Given the description of an element on the screen output the (x, y) to click on. 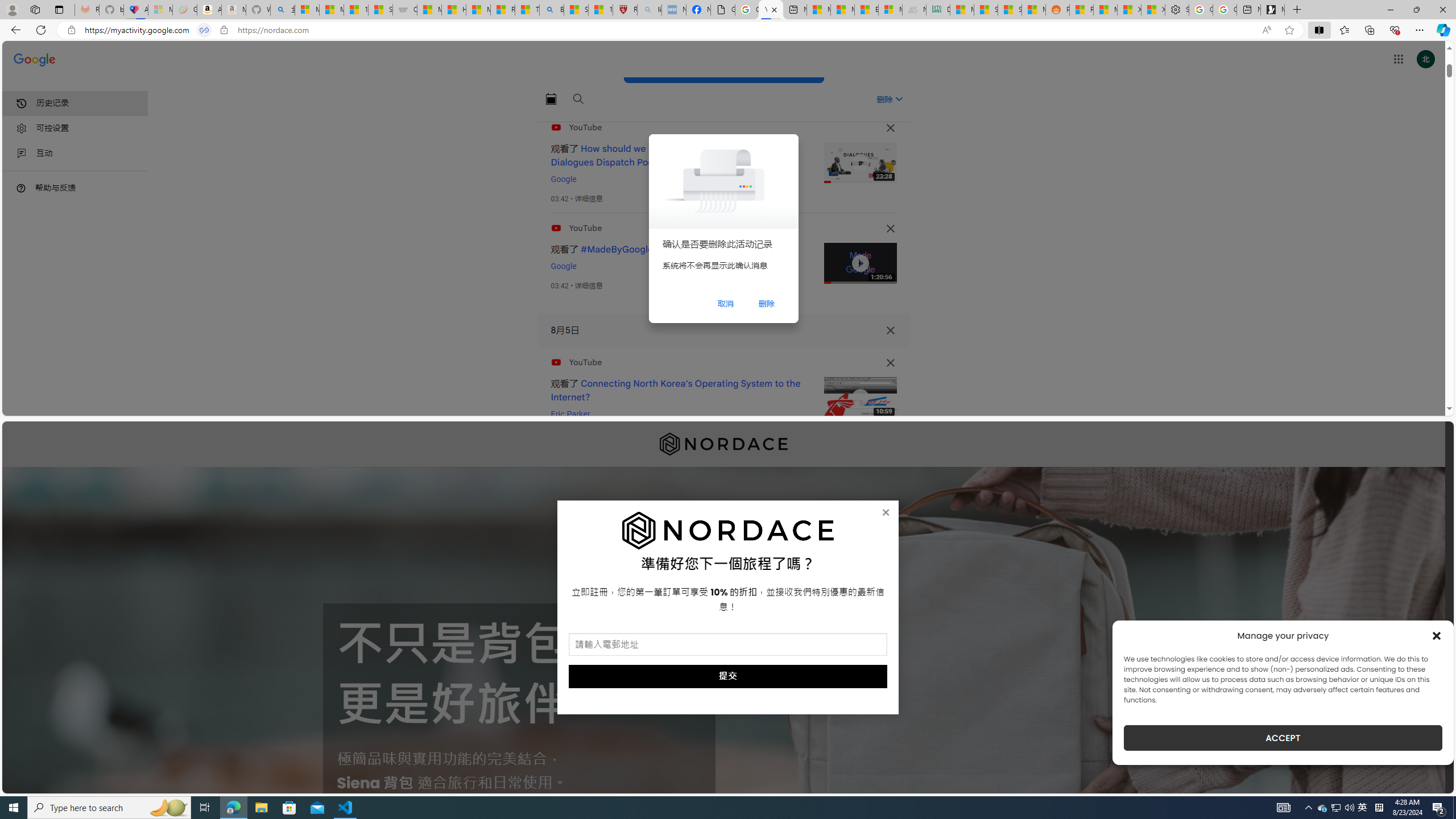
AutomationID: field_5_1 (727, 645)
